Given the description of an element on the screen output the (x, y) to click on. 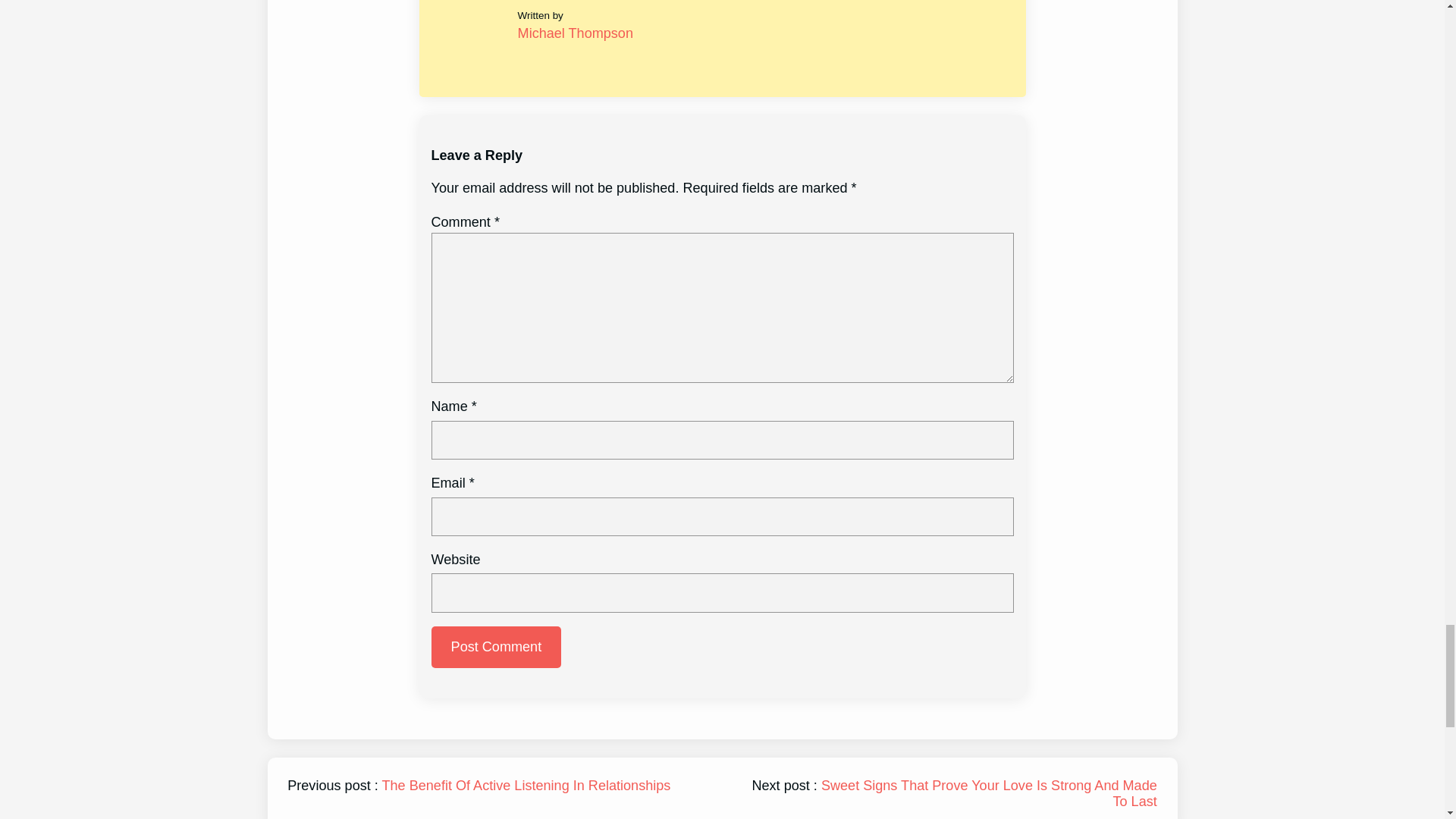
Sweet Signs That Prove Your Love Is Strong And Made To Last (989, 793)
The Benefit Of Active Listening In Relationships (526, 785)
Post Comment (495, 647)
Michael Thompson (575, 32)
Post Comment (495, 647)
